Given the description of an element on the screen output the (x, y) to click on. 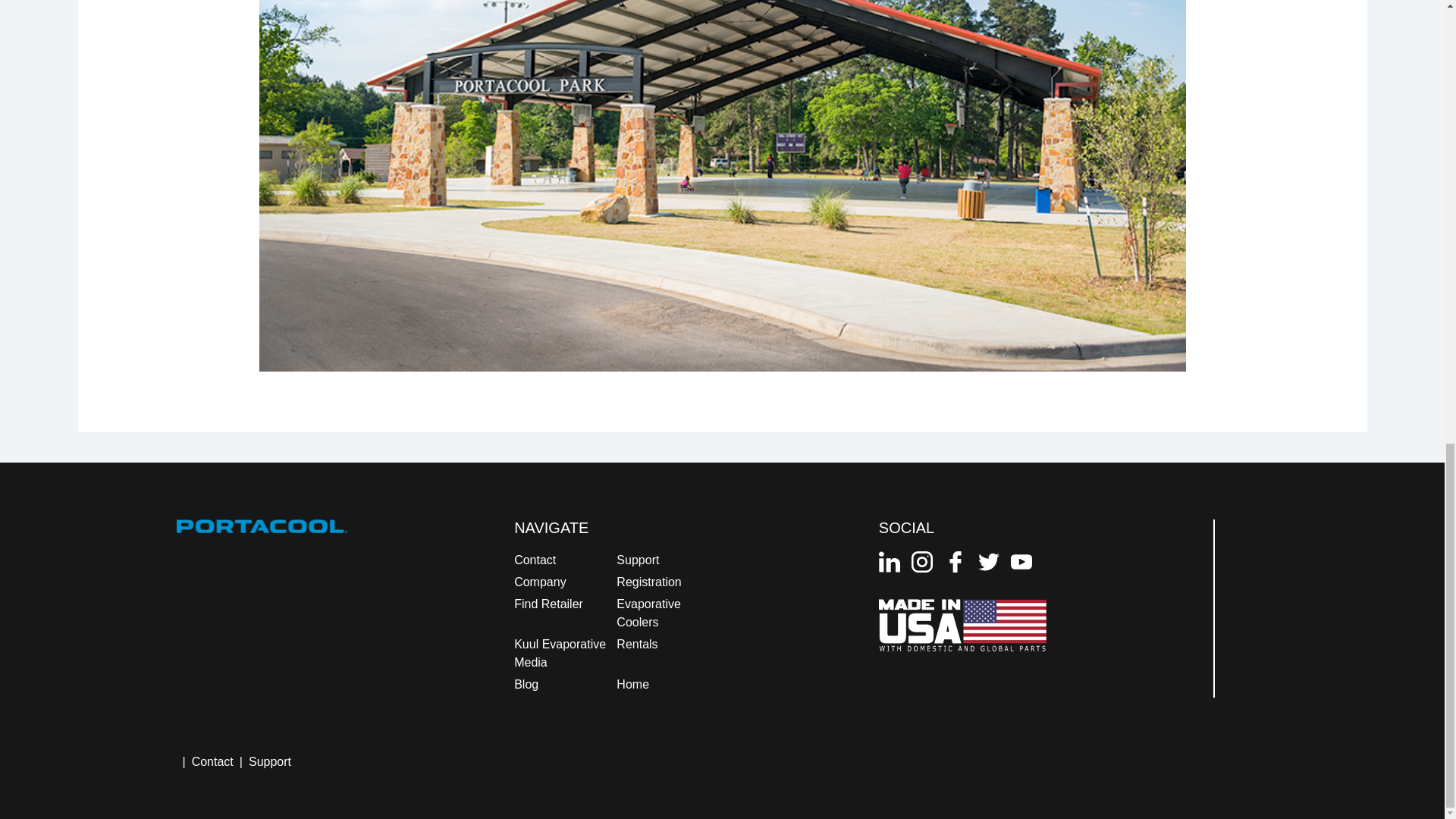
Registration (648, 581)
Contact (534, 559)
Find Retailer (548, 603)
Support (637, 559)
Evaporative Coolers (648, 612)
Company (539, 581)
